Given the description of an element on the screen output the (x, y) to click on. 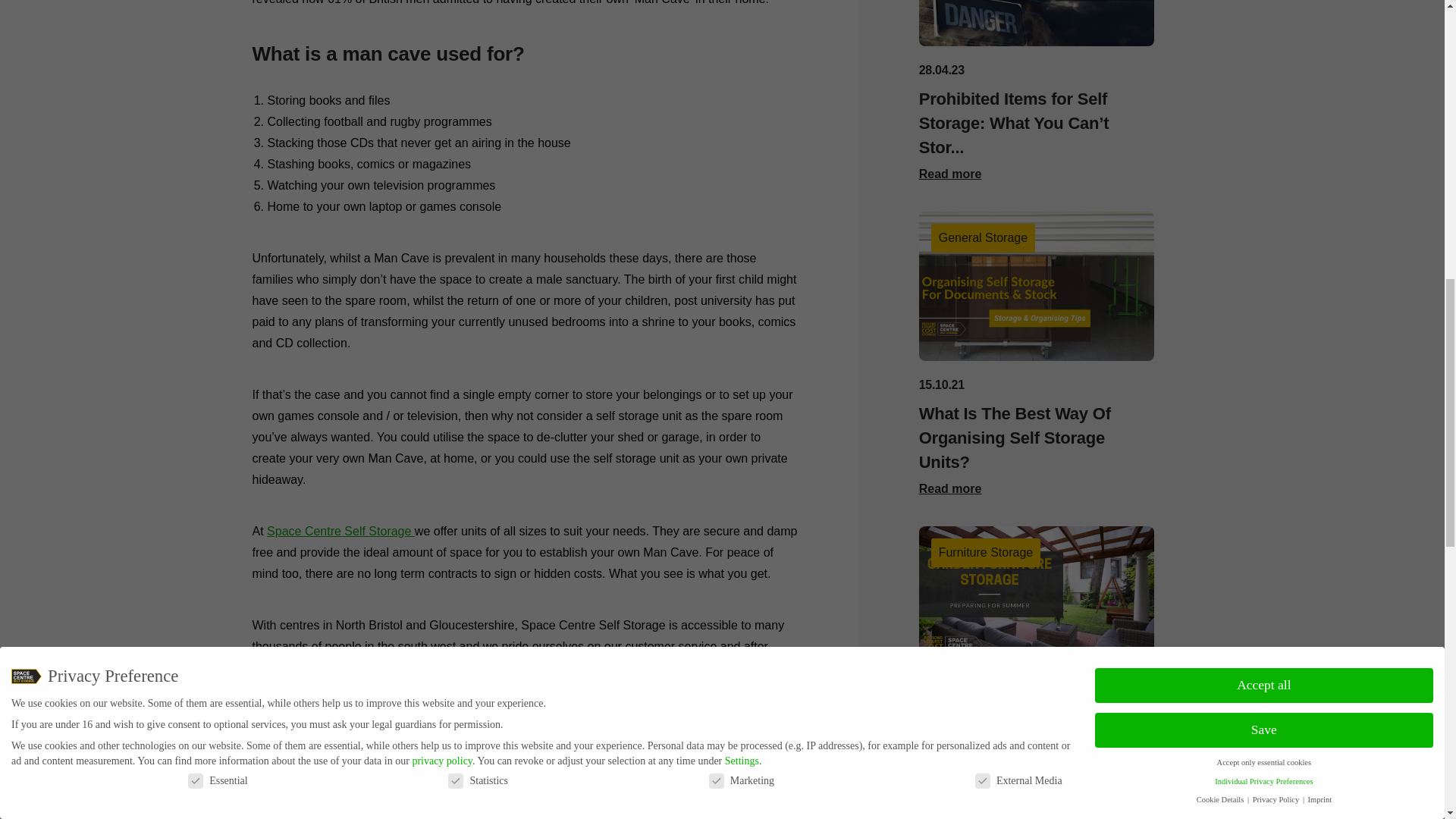
Space Centre Self Storage (340, 530)
give us a call.  (479, 739)
contact us page (479, 739)
Space Centre home page (340, 530)
